Given the description of an element on the screen output the (x, y) to click on. 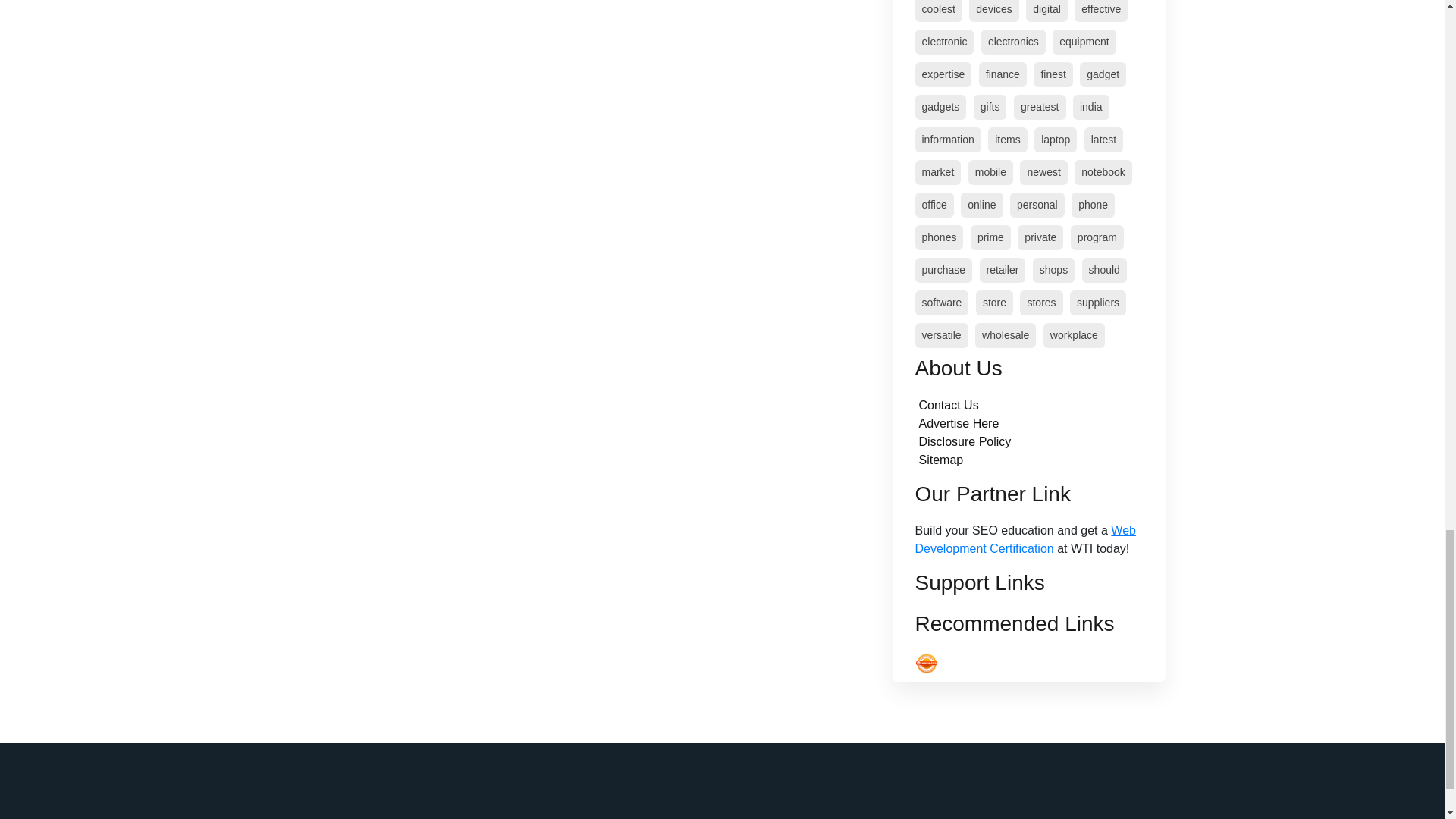
Seedbacklink (925, 662)
